Given the description of an element on the screen output the (x, y) to click on. 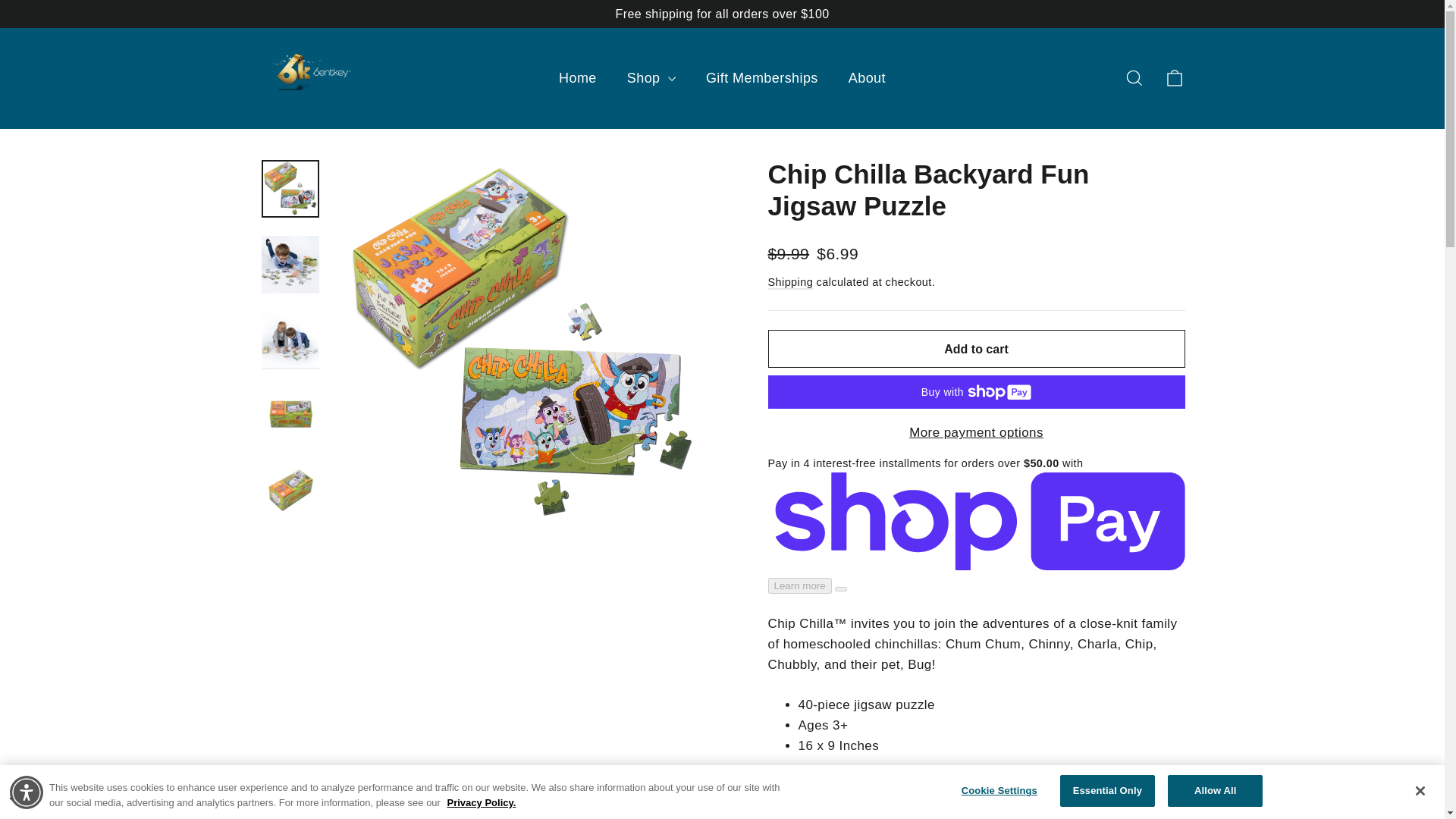
Add to cart (976, 348)
icon-bag-minimal (1134, 77)
More payment options (1174, 77)
Shipping (976, 432)
Company Logo (789, 282)
Home (24, 792)
About (577, 78)
icon-search (1173, 77)
Gift Memberships (866, 78)
Accessibility Menu (1134, 77)
